Given the description of an element on the screen output the (x, y) to click on. 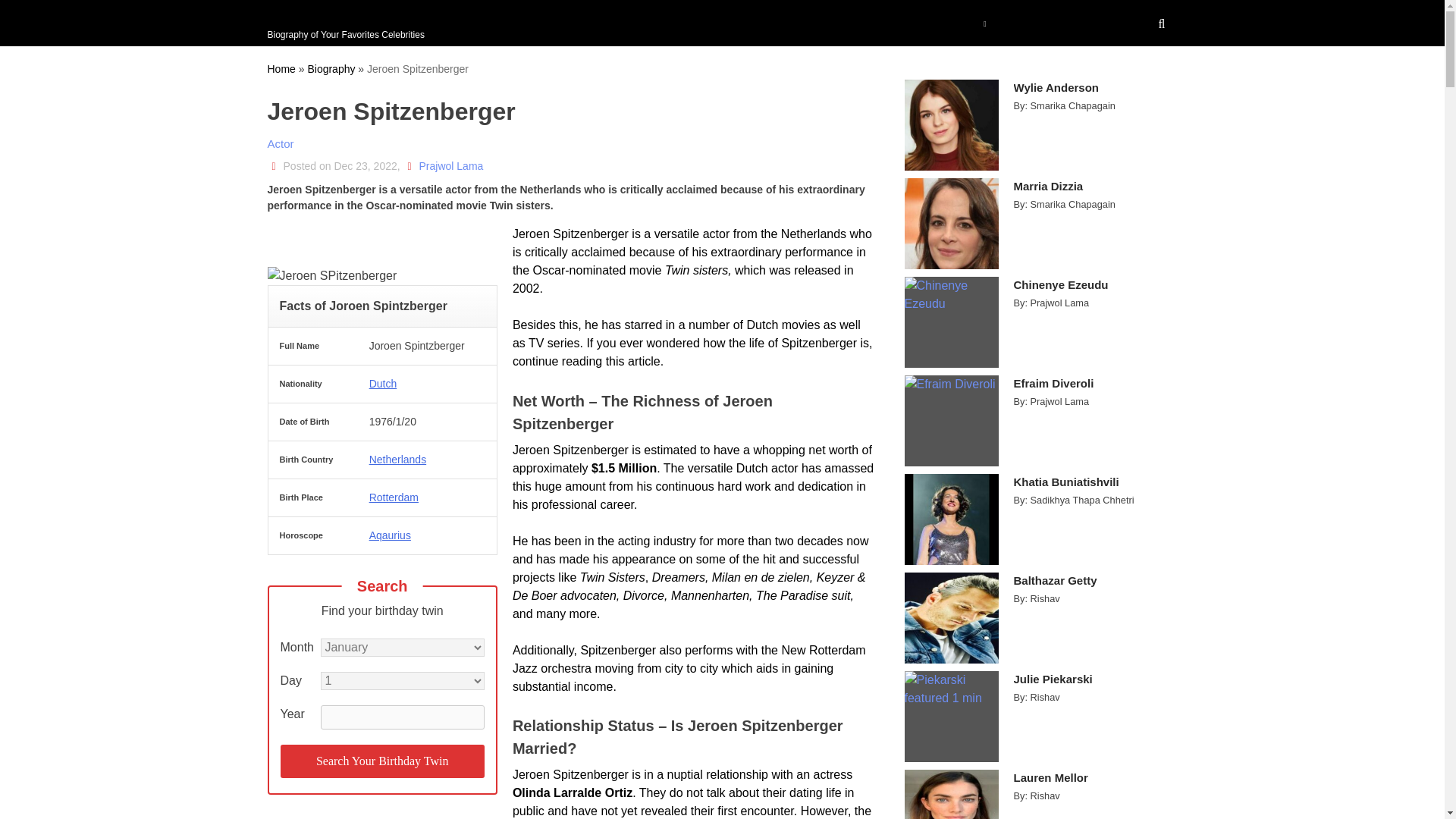
ABOUT US (946, 22)
Dutch (383, 383)
ENTERTAINMENT (799, 22)
Aqaurius (389, 535)
FEATURED BIOGRAPHY (354, 15)
Netherlands (397, 459)
HOME (629, 22)
Home (280, 69)
Balthazar Getty 11 (950, 617)
Lauren Mellor 13 (950, 794)
Jeroen Spitzenberger 1 (331, 275)
Prajwol Lama (451, 165)
Prajwol Lama (451, 165)
Actor (280, 143)
NEWS (881, 22)
